Given the description of an element on the screen output the (x, y) to click on. 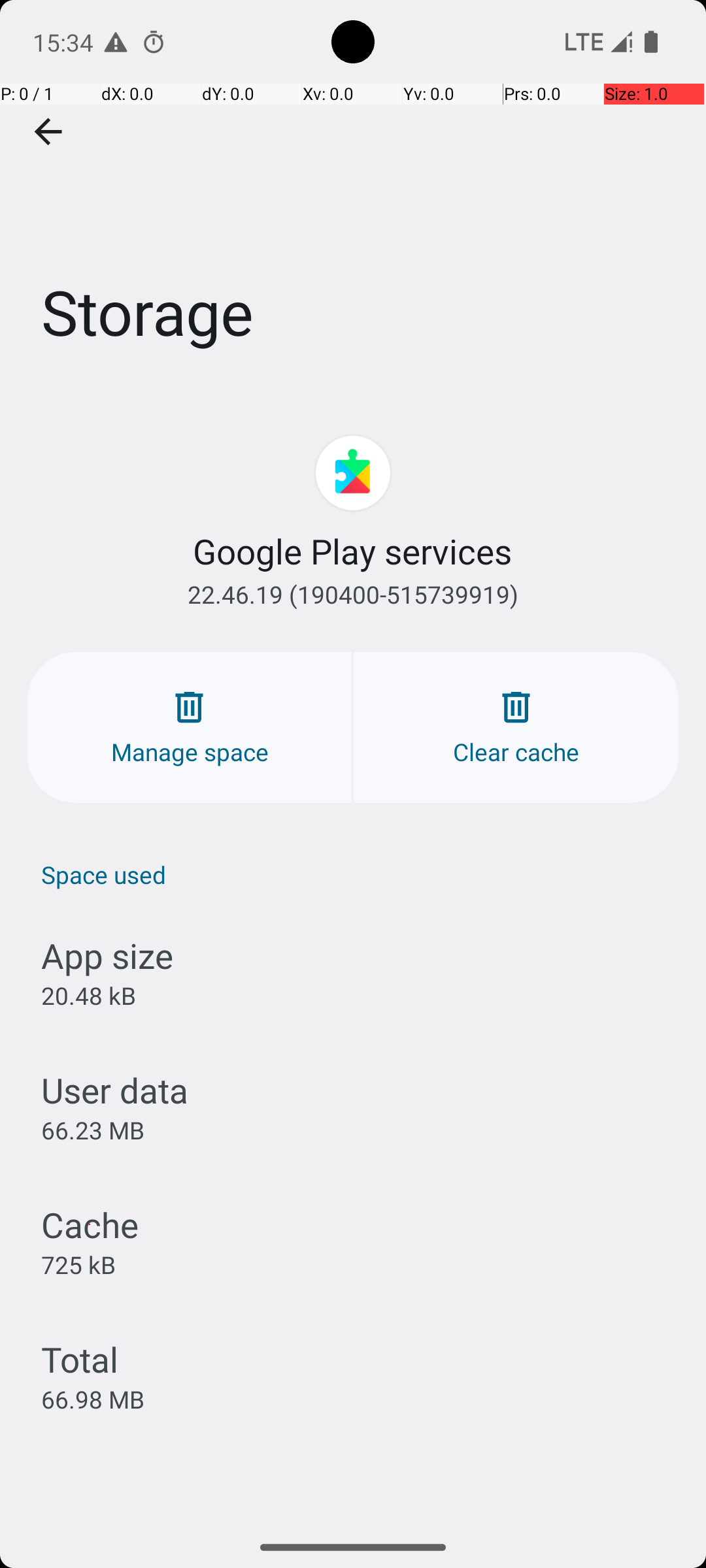
Google Play services Element type: android.widget.TextView (352, 550)
22.46.19 (190400-515739919) Element type: android.widget.TextView (352, 593)
Manage space Element type: android.widget.Button (189, 727)
Clear cache Element type: android.widget.Button (515, 727)
Space used Element type: android.widget.TextView (359, 874)
App size Element type: android.widget.TextView (107, 955)
20.48 kB Element type: android.widget.TextView (88, 995)
User data Element type: android.widget.TextView (114, 1089)
66.23 MB Element type: android.widget.TextView (92, 1129)
Cache Element type: android.widget.TextView (89, 1224)
725 kB Element type: android.widget.TextView (78, 1264)
Total Element type: android.widget.TextView (79, 1359)
66.98 MB Element type: android.widget.TextView (92, 1398)
